Given the description of an element on the screen output the (x, y) to click on. 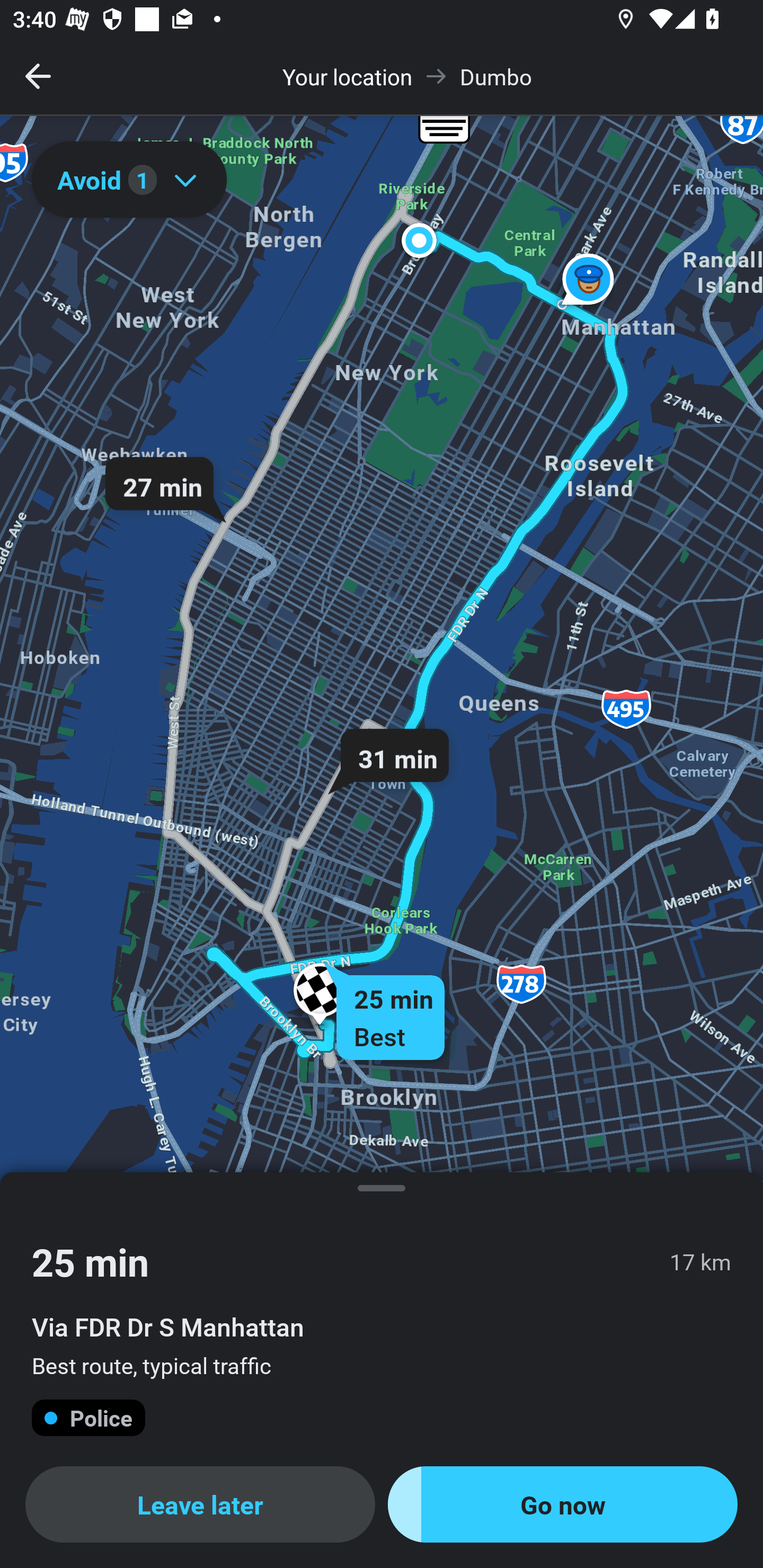
Leave later (200, 1504)
Go now (562, 1504)
